Given the description of an element on the screen output the (x, y) to click on. 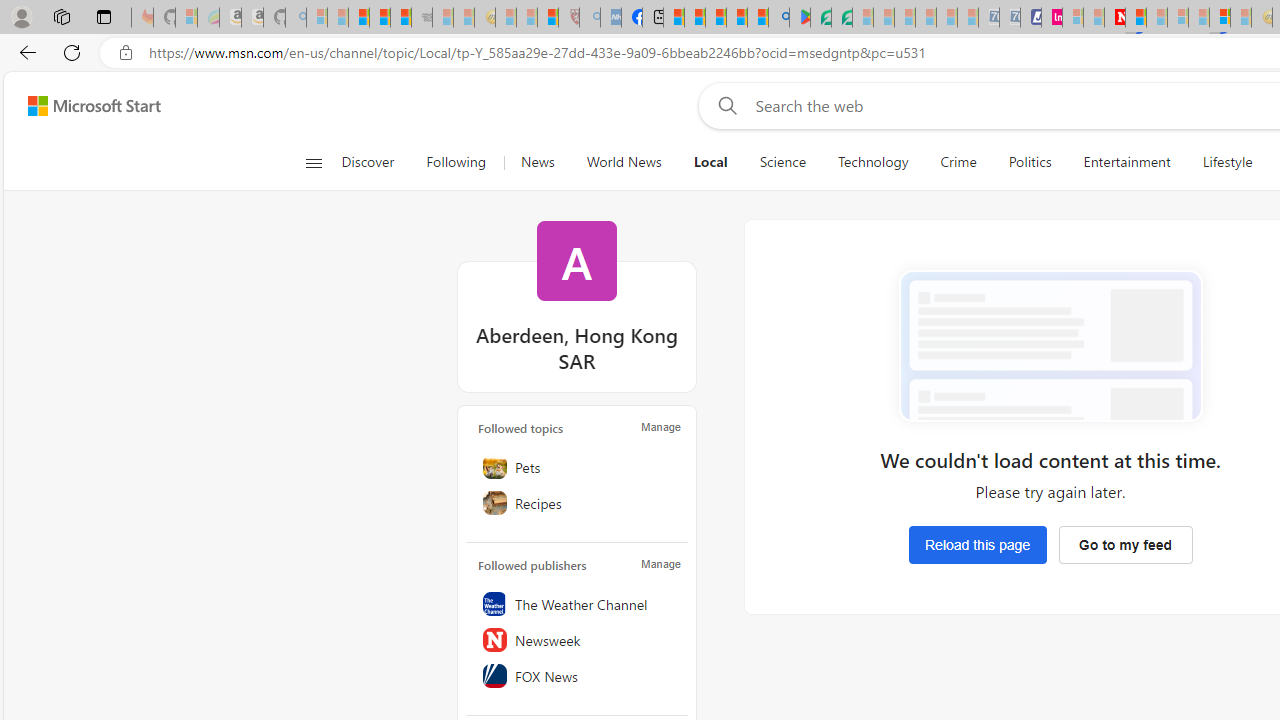
Politics (1030, 162)
Microsoft-Report a Concern to Bing - Sleeping (186, 17)
Skip to content (86, 105)
The Weather Channel - MSN - Sleeping (358, 17)
Science (781, 162)
Go to my feed (1125, 544)
Pets - MSN (737, 17)
Recipes (577, 502)
Trusted Community Engagement and Contributions | Guidelines (1135, 17)
World News (623, 162)
